Given the description of an element on the screen output the (x, y) to click on. 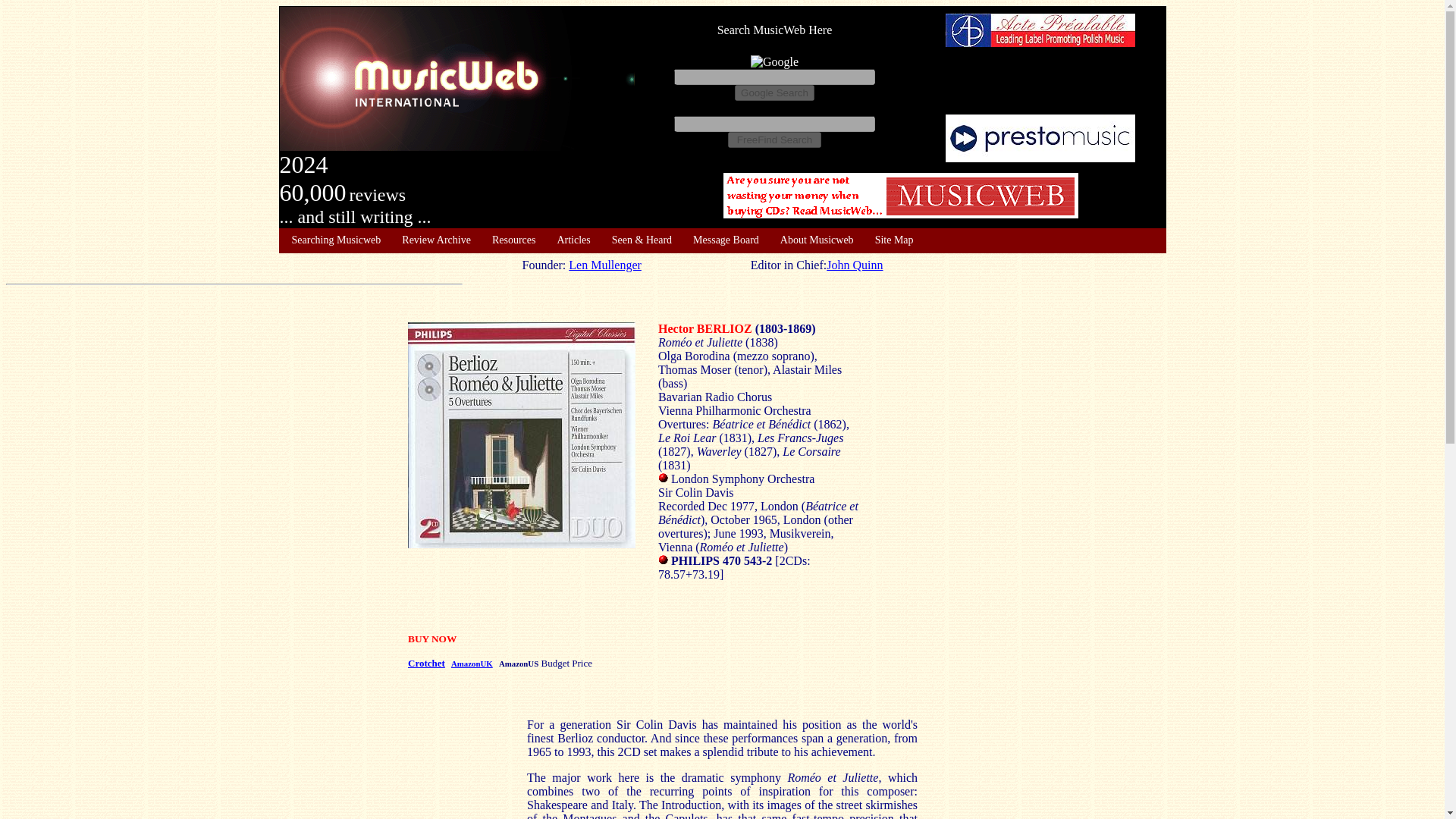
Advertisement (900, 195)
Articles (572, 240)
 FreeFind Search  (774, 139)
Google Search (774, 92)
Review Archive (435, 240)
Resources (513, 240)
Searching Musicweb (335, 240)
Google Search (774, 92)
